Given the description of an element on the screen output the (x, y) to click on. 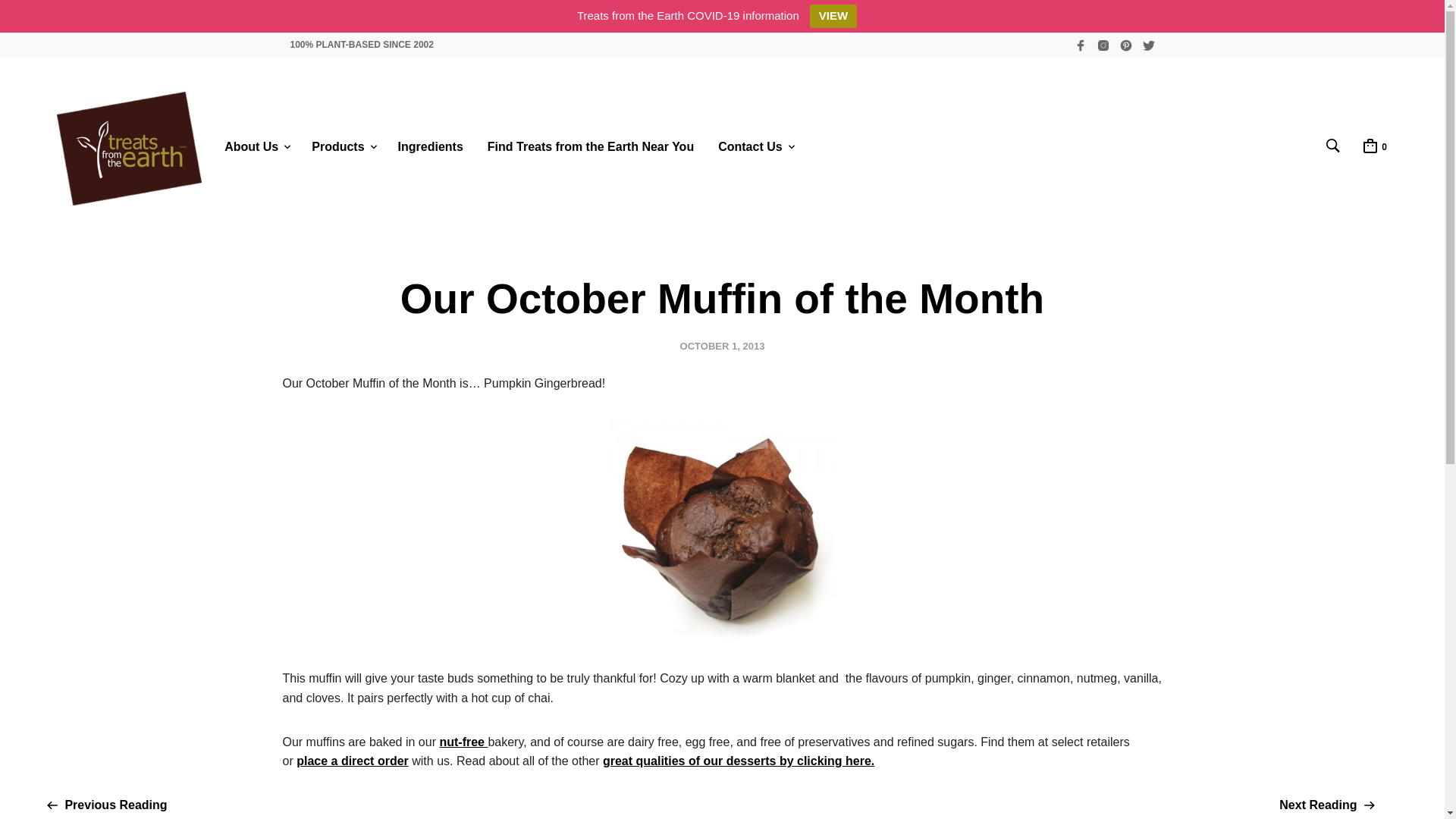
nut-free  (463, 741)
place a direct order (353, 760)
Permalink to Our October Muffin of the Month (722, 346)
Find Treats from the Earth Near You (590, 147)
Ingredients (430, 147)
VIEW (833, 15)
Pumpkin Gingerbread Muffin (721, 530)
Sweet. Natural. Sinfully Delicious Desserts! (129, 148)
Products (338, 147)
OCTOBER 1, 2013 (722, 346)
